Given the description of an element on the screen output the (x, y) to click on. 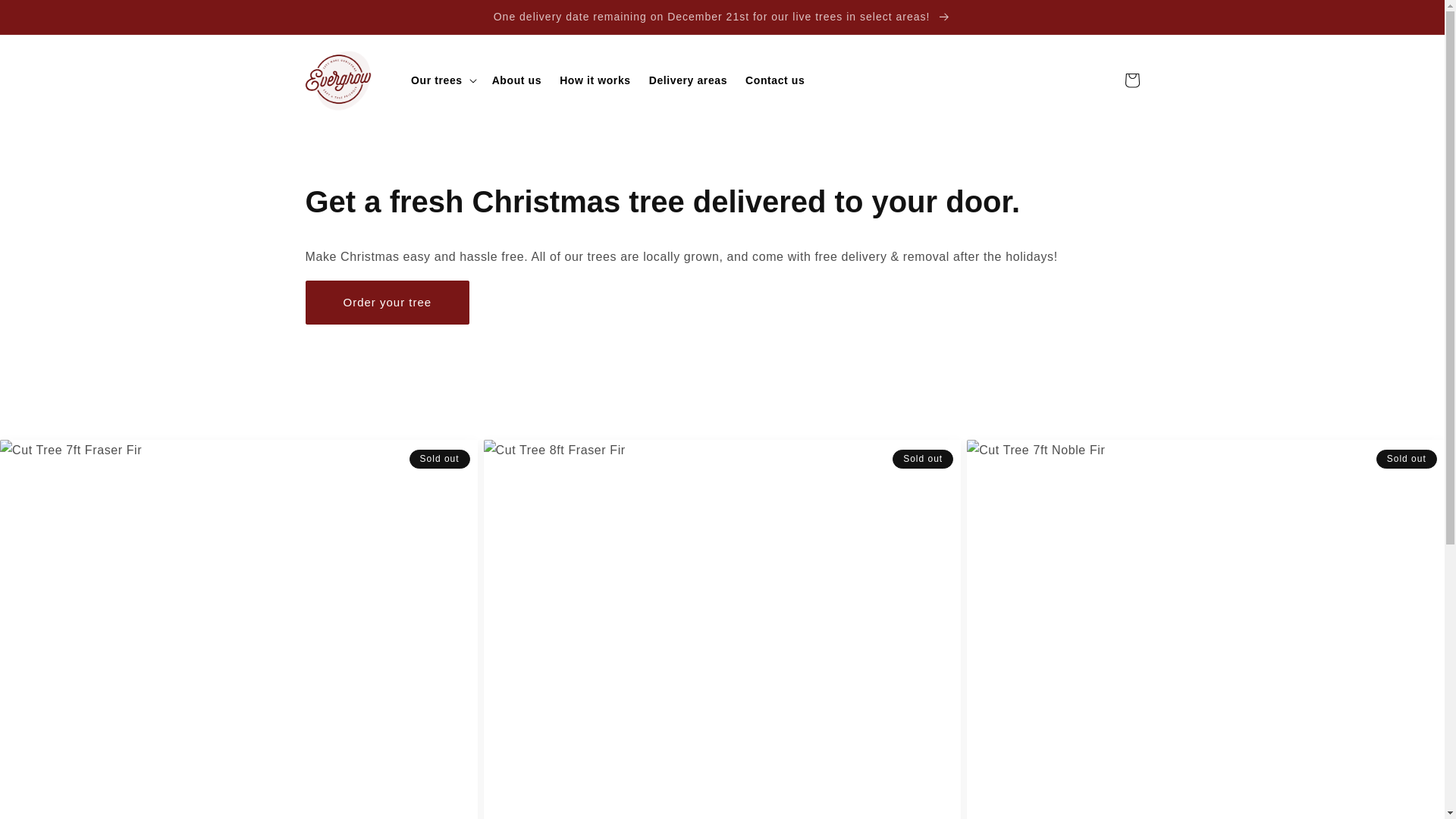
Delivery areas (688, 80)
About us (516, 80)
Contact us (774, 80)
Cart (1131, 80)
How it works (595, 80)
Order your tree (386, 302)
Skip to content (45, 17)
